Given the description of an element on the screen output the (x, y) to click on. 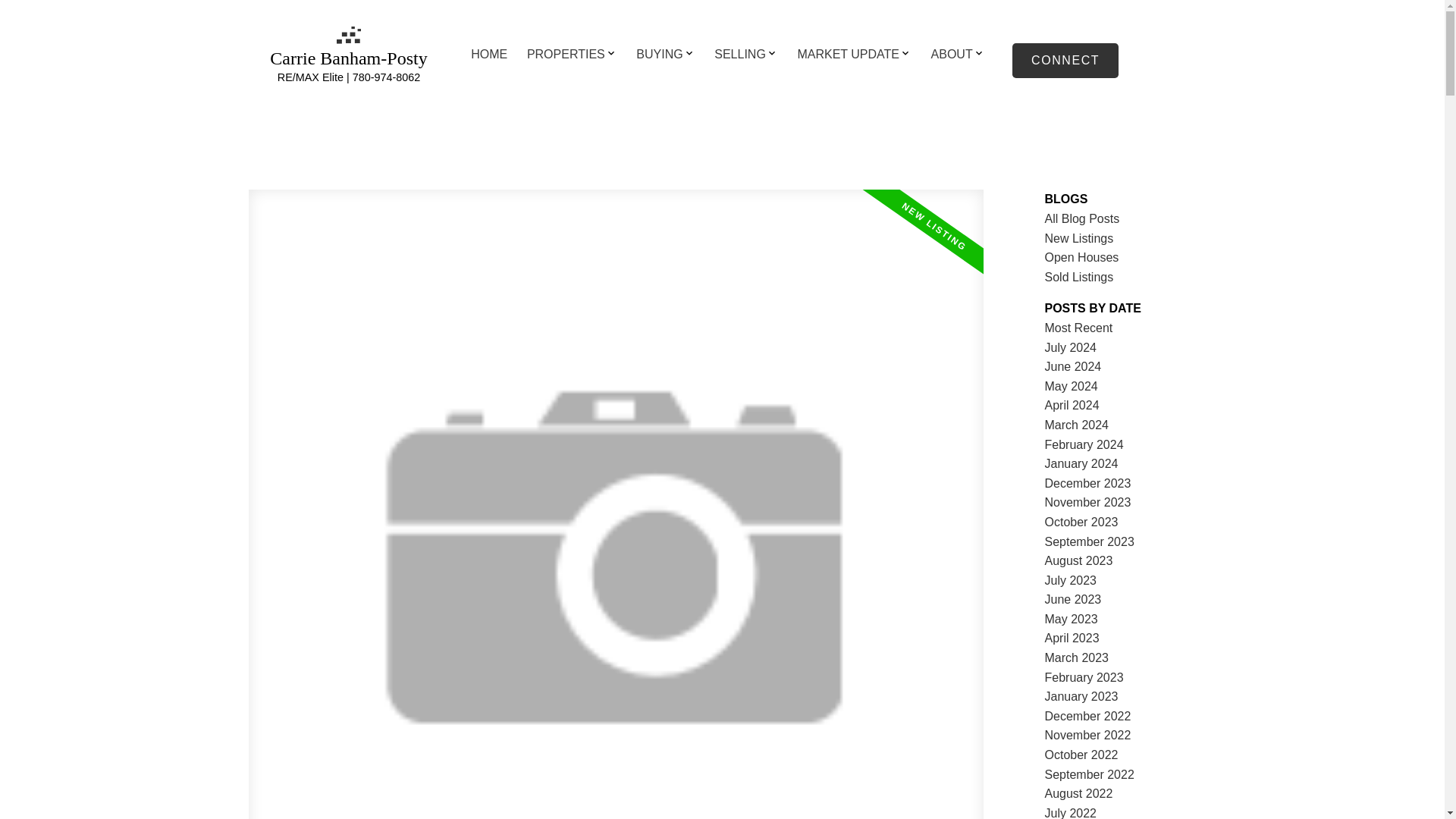
April 2024 (1072, 404)
July 2024 (1071, 347)
November 2023 (1088, 502)
Most Recent (1079, 327)
Open Houses (1082, 256)
October 2023 (1081, 521)
January 2024 (1081, 463)
May 2024 (1071, 386)
CONNECT (1064, 60)
March 2024 (1077, 424)
December 2023 (1088, 482)
February 2024 (1084, 444)
New Listings (1079, 237)
HOME (488, 55)
All Blog Posts (1082, 218)
